Given the description of an element on the screen output the (x, y) to click on. 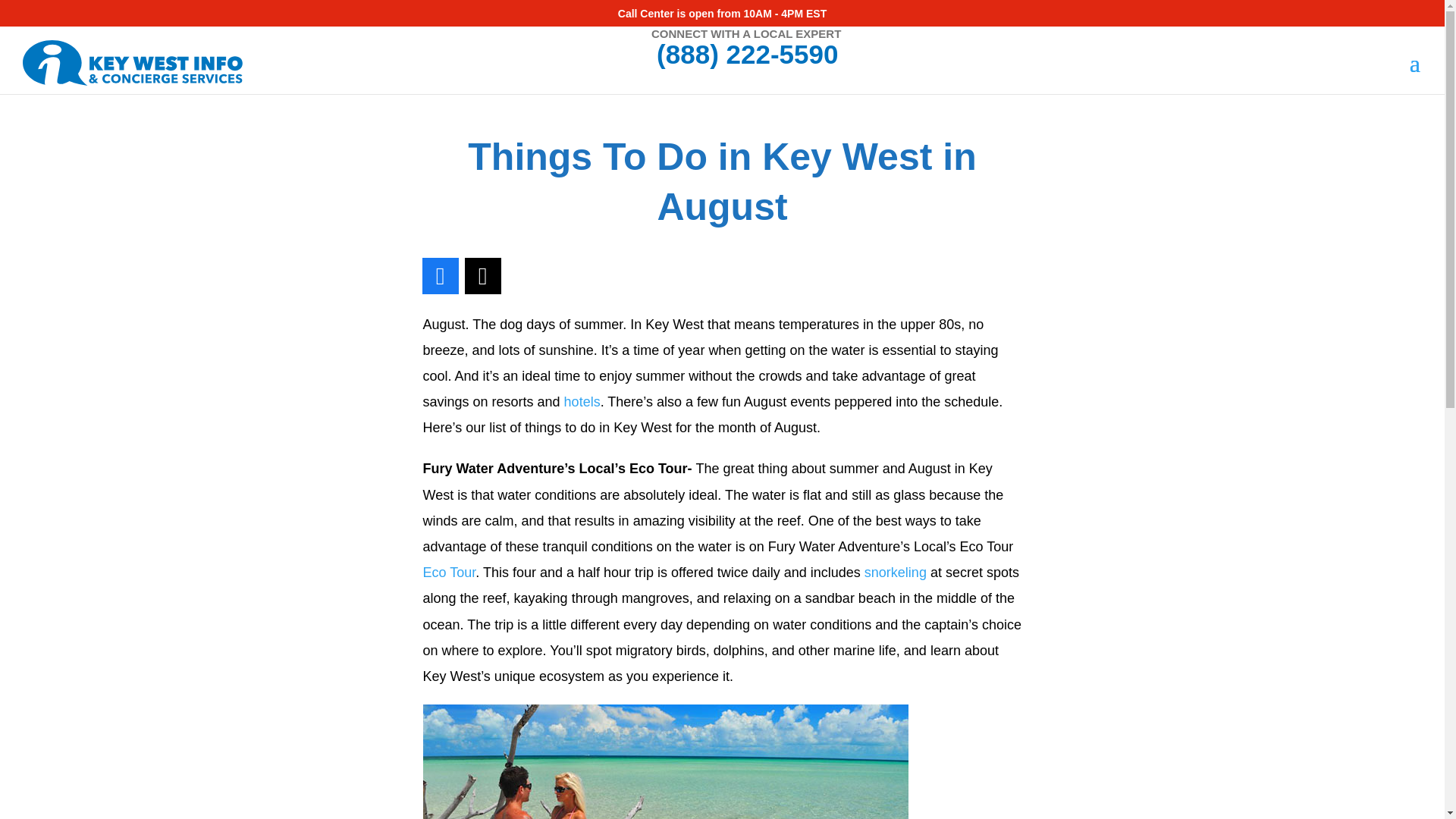
Share this article on Facebook (440, 275)
Eco Tour (449, 572)
Things To Do In August Key West Eco Tour (665, 761)
Key West Snorkeling (895, 572)
Key West Hotels (581, 401)
Key West Eco Tour (449, 572)
hotels (581, 401)
snorkeling (895, 572)
Share this article on X (482, 275)
